Given the description of an element on the screen output the (x, y) to click on. 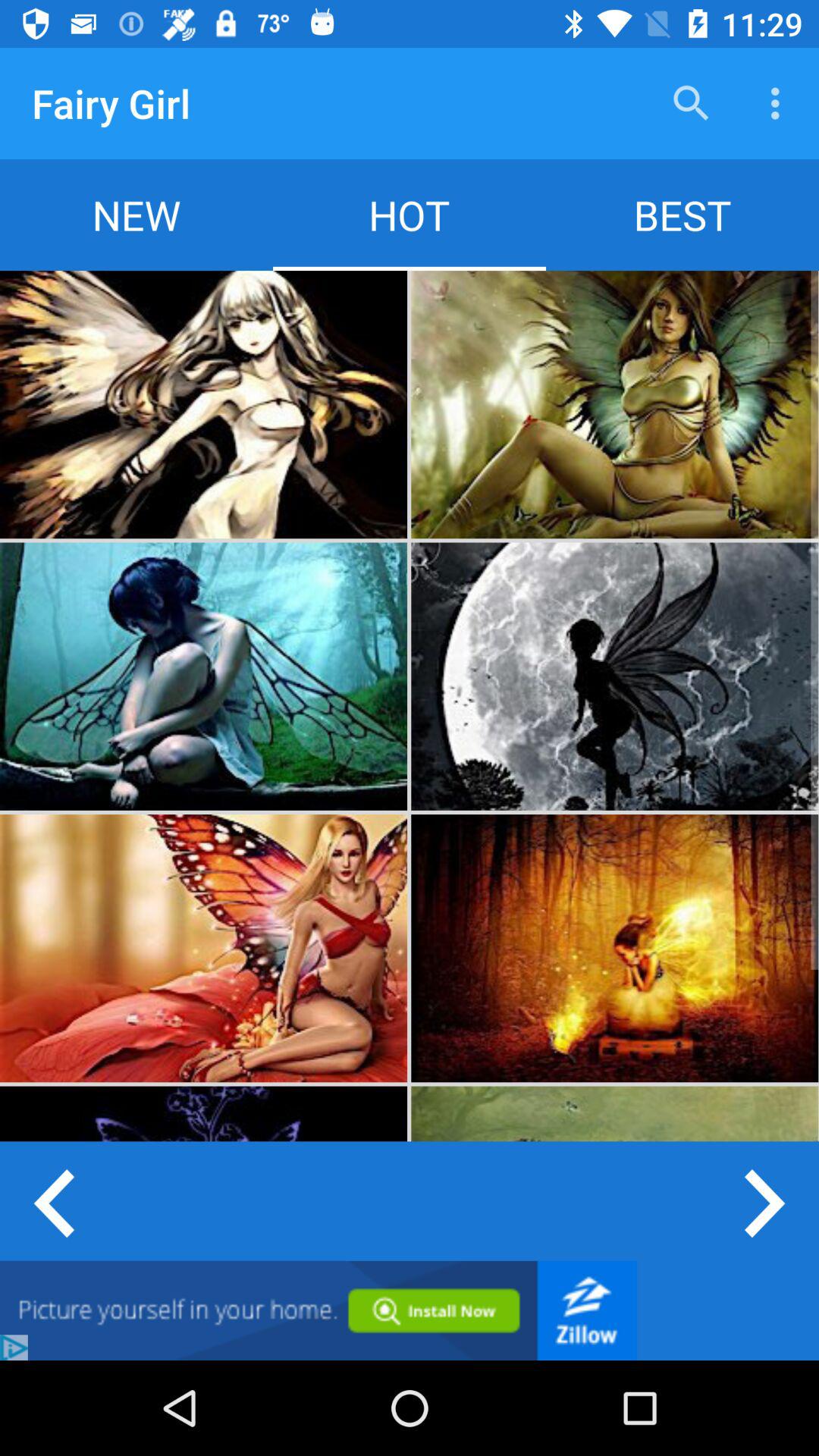
open advertisement (318, 1310)
